Given the description of an element on the screen output the (x, y) to click on. 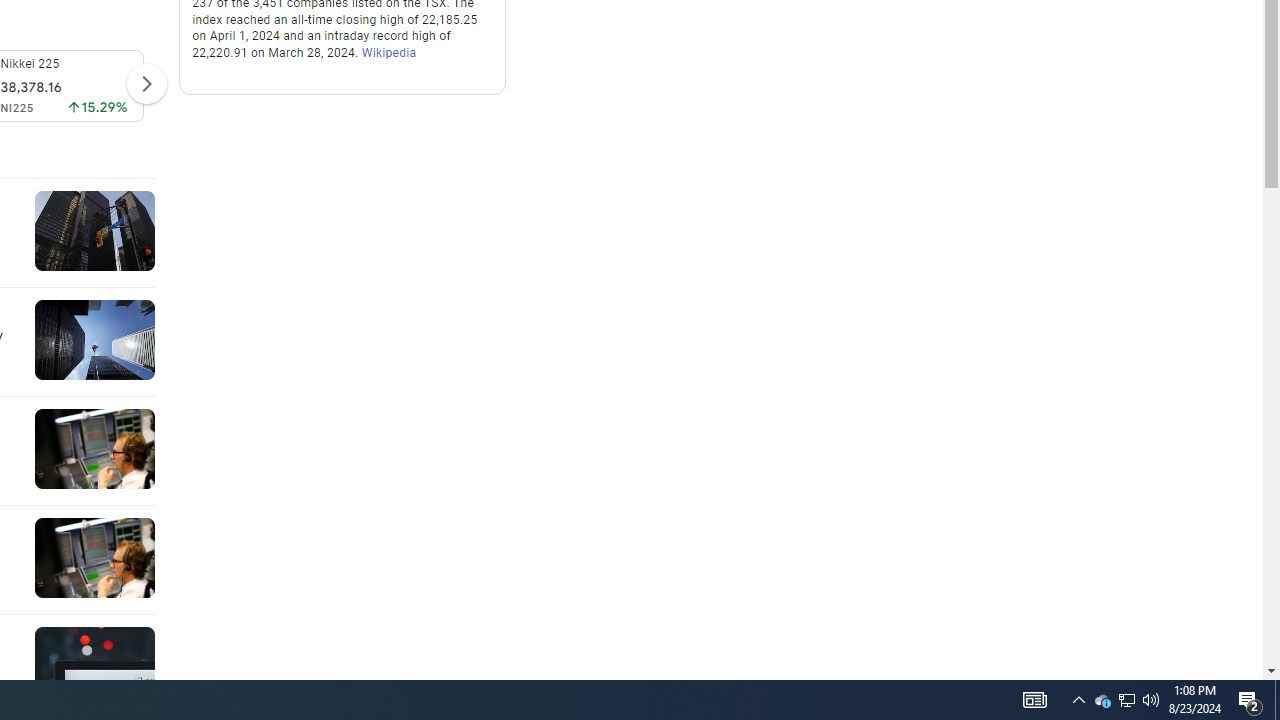
Wikipedia (388, 53)
